Given the description of an element on the screen output the (x, y) to click on. 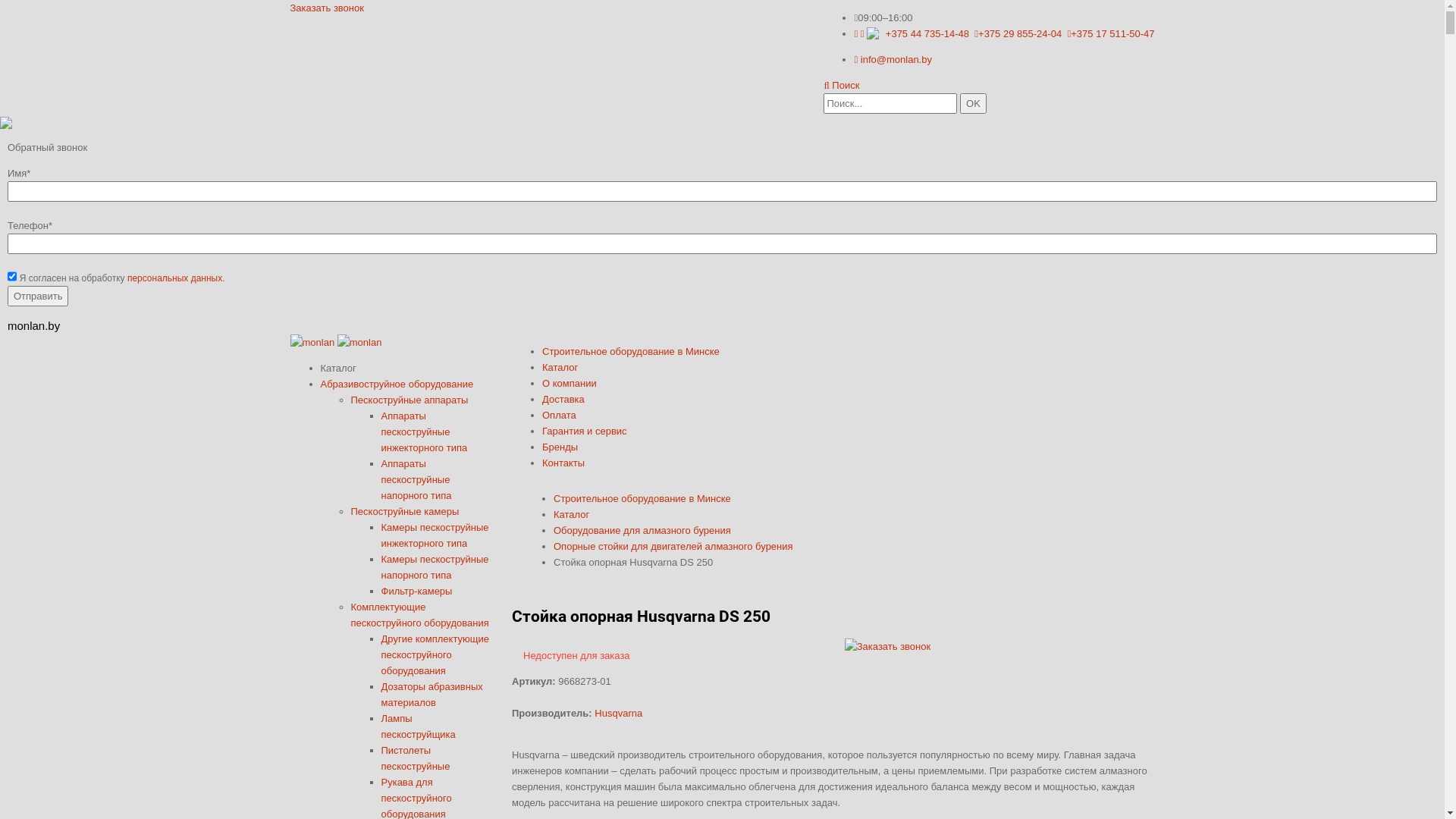
Husqvarna Element type: text (618, 712)
+375 44 735-14-48 Element type: text (911, 33)
info@monlan.by Element type: text (892, 59)
+375 17 511-50-47 Element type: text (1110, 33)
OK Element type: text (973, 103)
+375 29 855-24-04 Element type: text (1017, 33)
true Element type: text (11, 276)
